Given the description of an element on the screen output the (x, y) to click on. 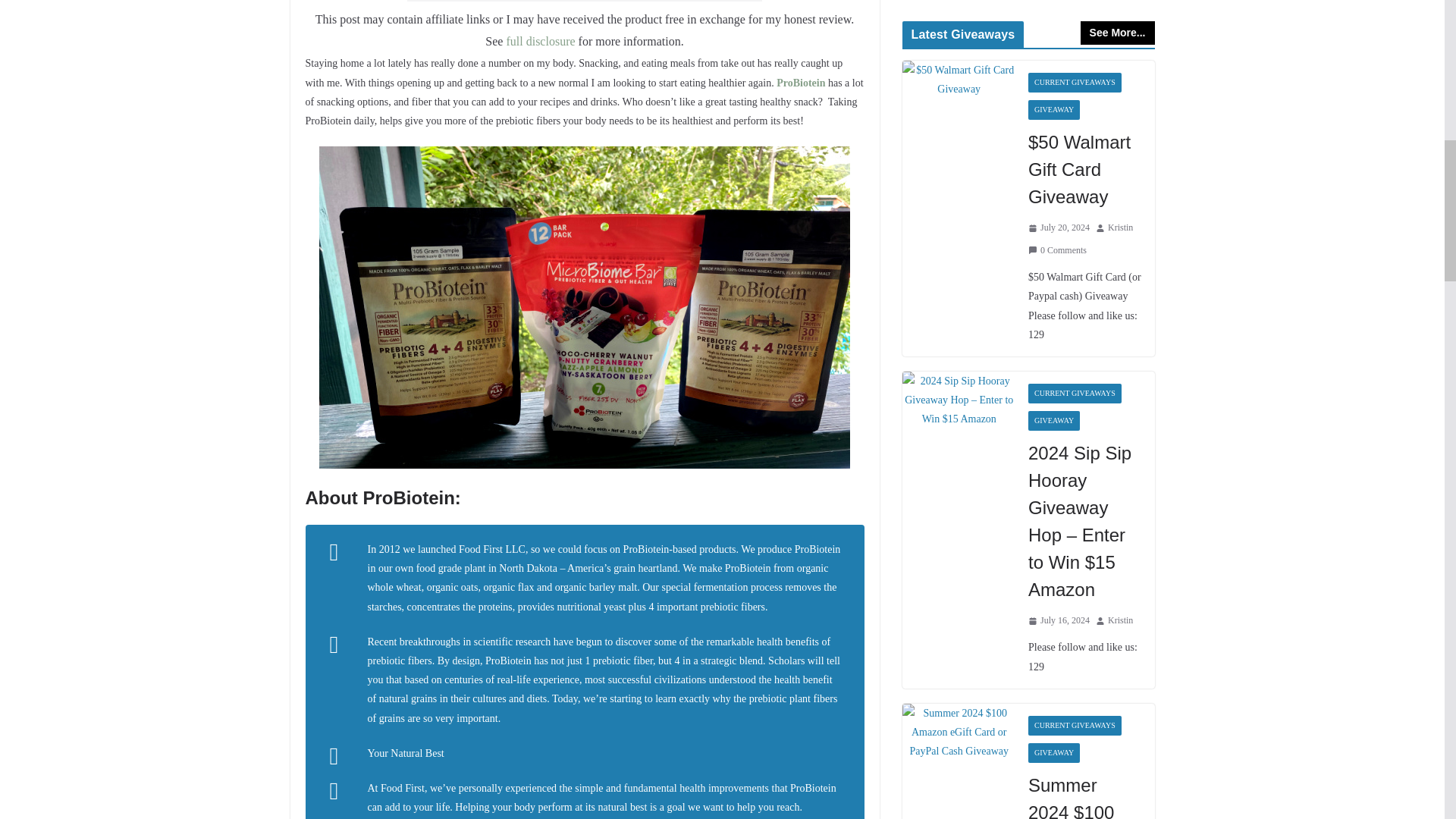
full disclosure (540, 41)
ProBiotein (800, 82)
